Given the description of an element on the screen output the (x, y) to click on. 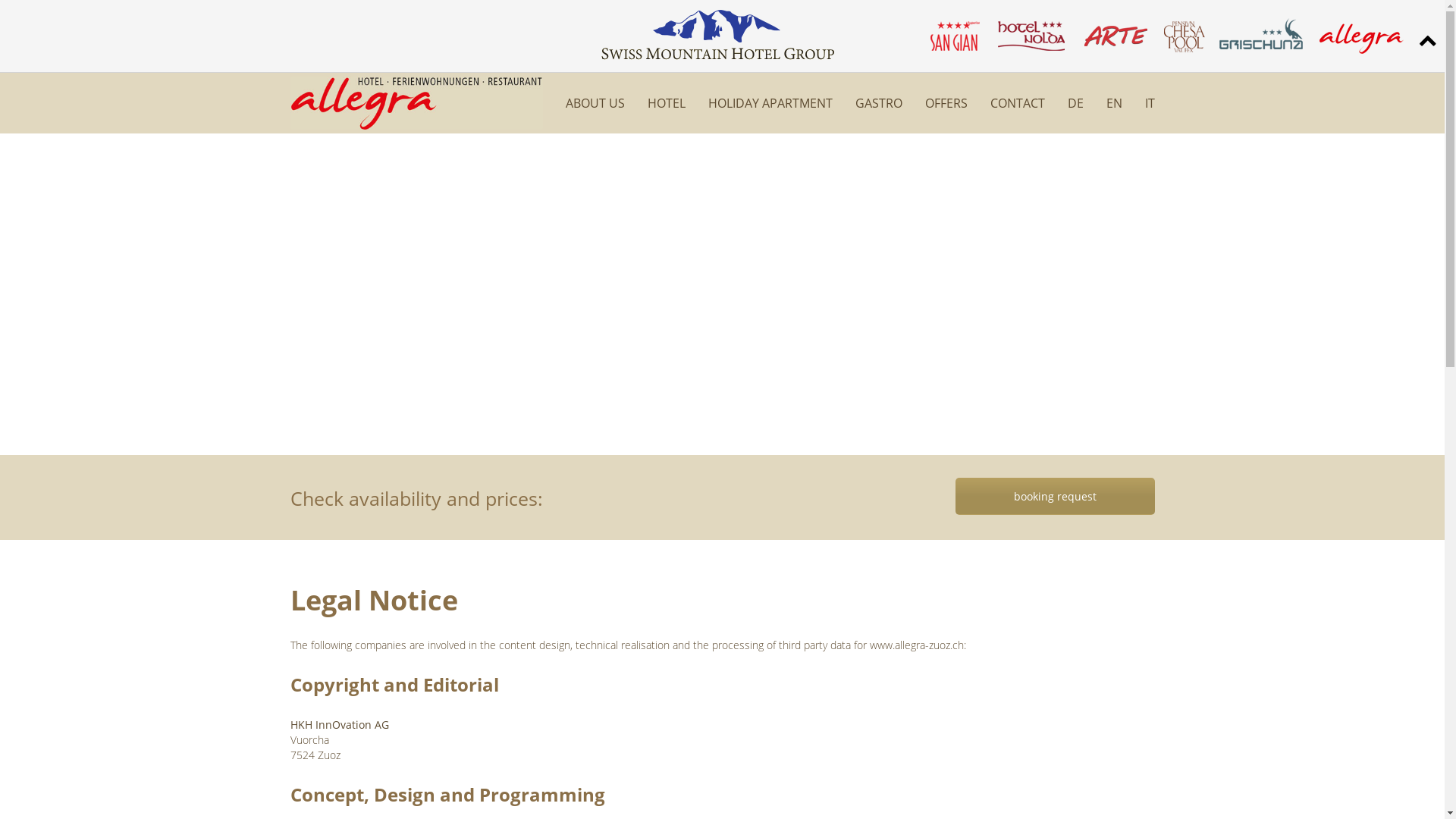
CONTACT Element type: text (1017, 102)
HOLIDAY APARTMENT Element type: text (770, 102)
HOTEL Element type: text (666, 102)
ABOUT US Element type: text (594, 102)
OFFERS Element type: text (946, 102)
EN Element type: text (1113, 102)
booking request Element type: text (1054, 495)
GASTRO Element type: text (878, 102)
IT Element type: text (1149, 102)
DE Element type: text (1075, 102)
